Given the description of an element on the screen output the (x, y) to click on. 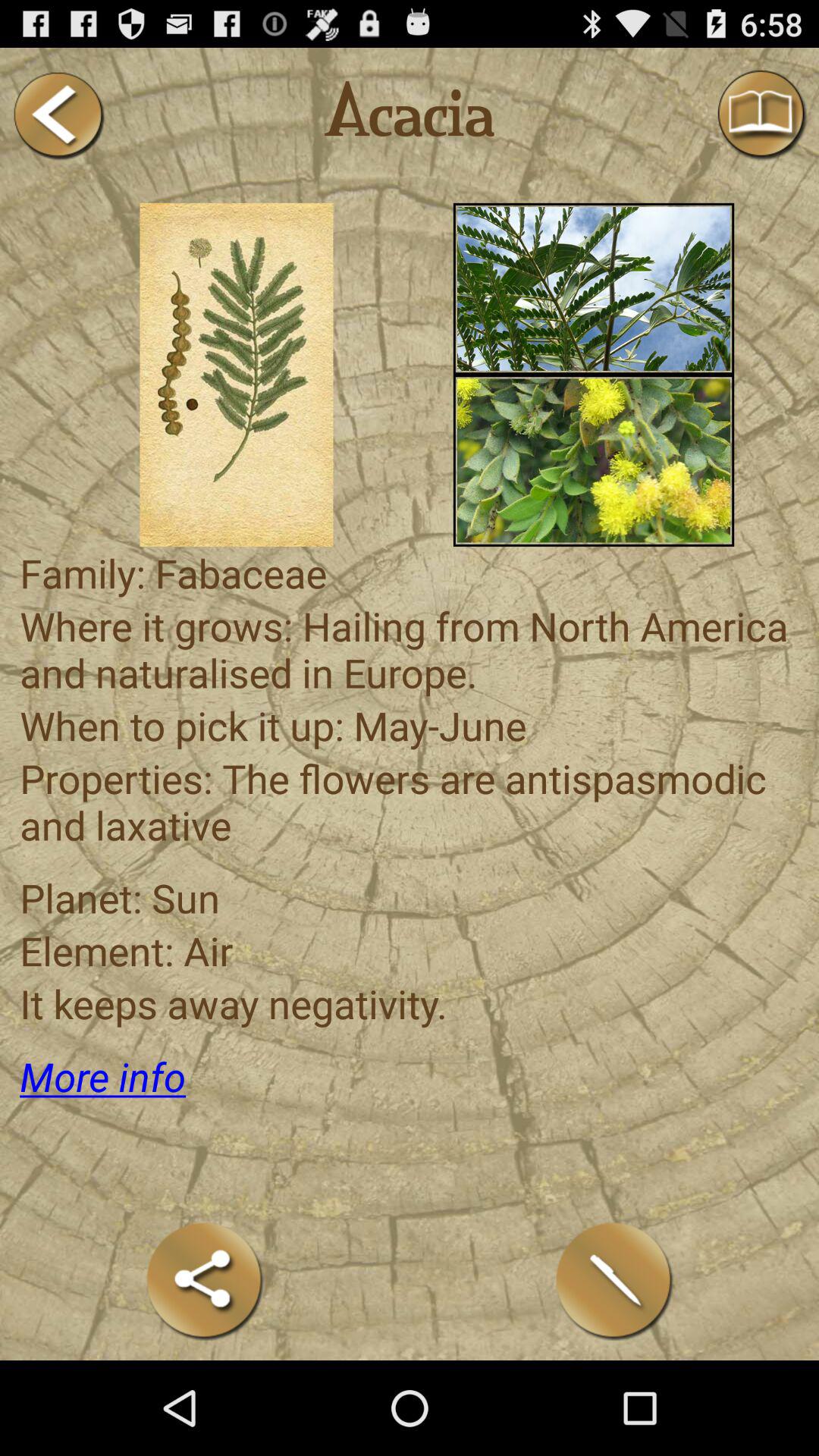
share this (204, 1280)
